Given the description of an element on the screen output the (x, y) to click on. 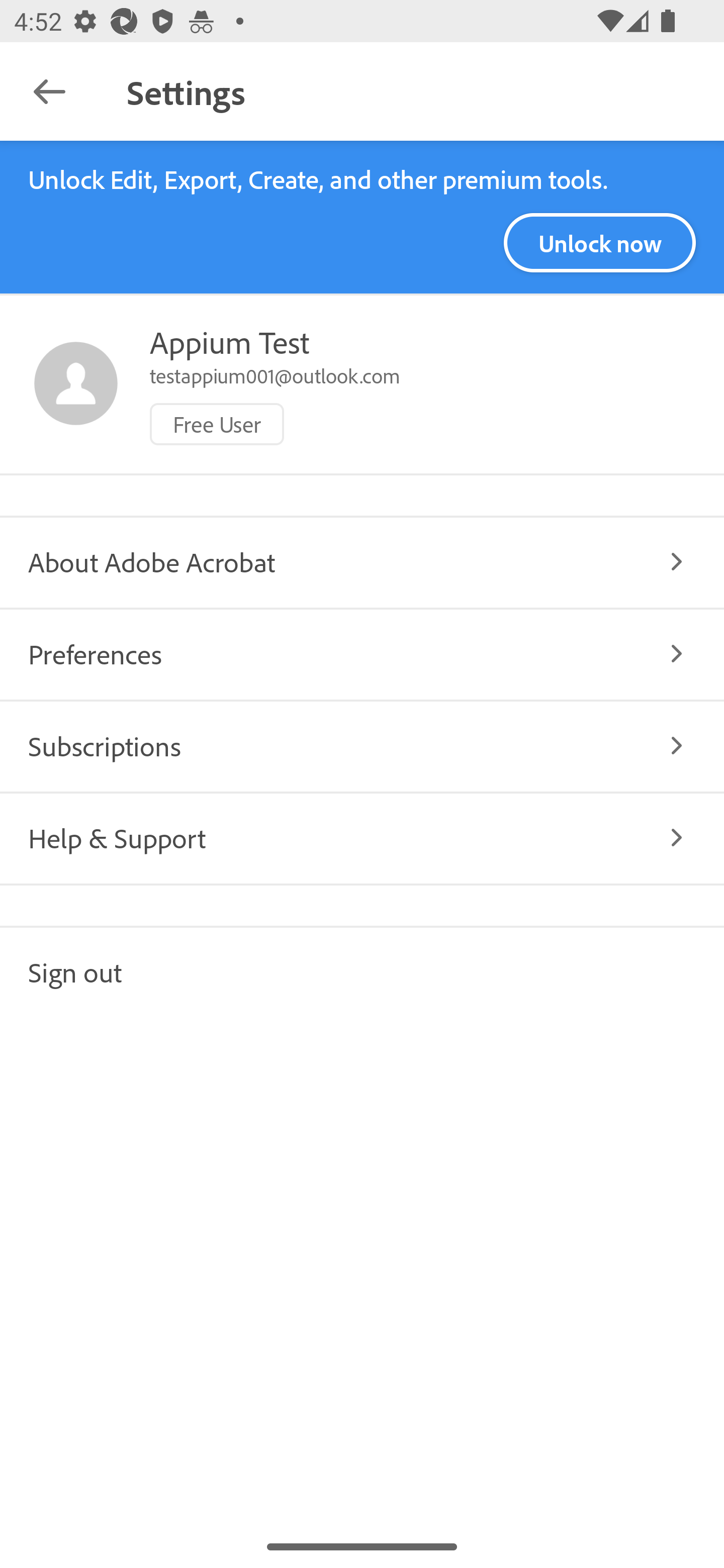
Navigate up (49, 91)
Unlock now (599, 242)
About Adobe Acrobat (362, 561)
Preferences (362, 653)
Subscriptions (362, 745)
Help & Support (362, 836)
Sign out (362, 971)
